Given the description of an element on the screen output the (x, y) to click on. 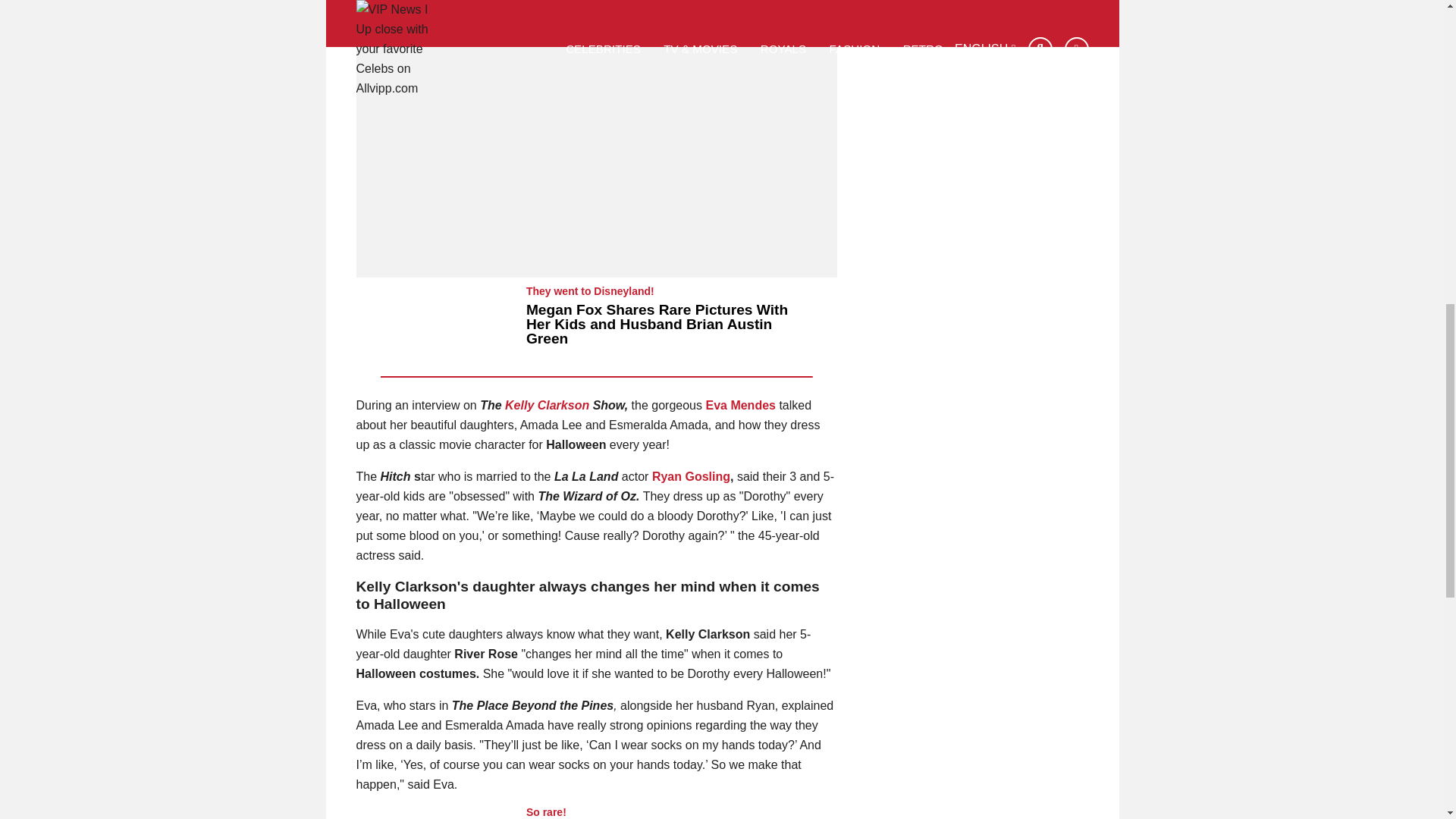
Eva Mendes (739, 404)
Ryan Gosling (691, 476)
Kelly Clarkson (547, 404)
